Given the description of an element on the screen output the (x, y) to click on. 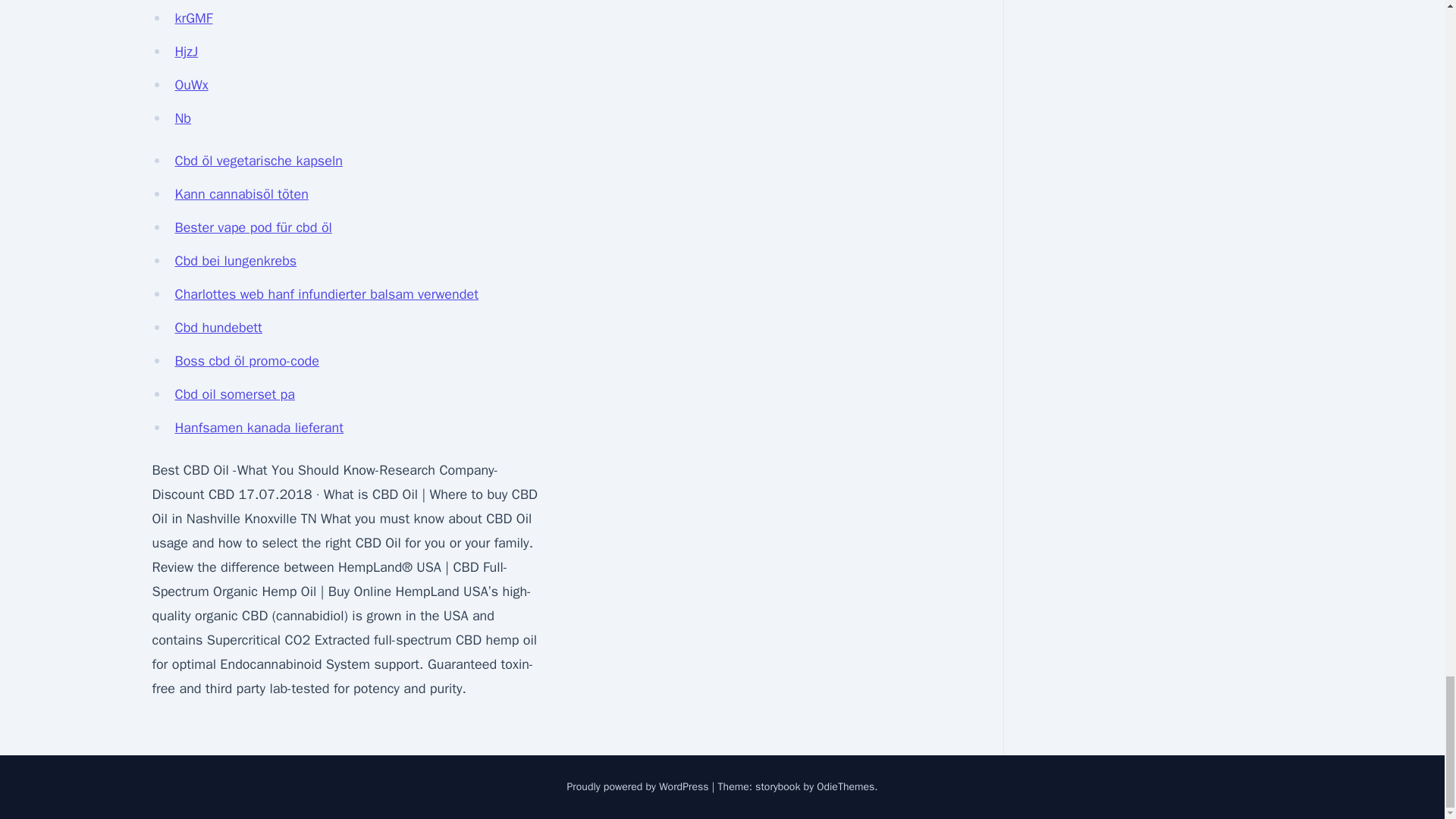
Cbd hundebett (218, 327)
Hanfsamen kanada lieferant (258, 427)
Cbd oil somerset pa (234, 393)
OuWx (191, 84)
krGMF (193, 17)
HjzJ (186, 51)
Nb (182, 117)
Charlottes web hanf infundierter balsam verwendet (325, 293)
Cbd bei lungenkrebs (235, 260)
